Given the description of an element on the screen output the (x, y) to click on. 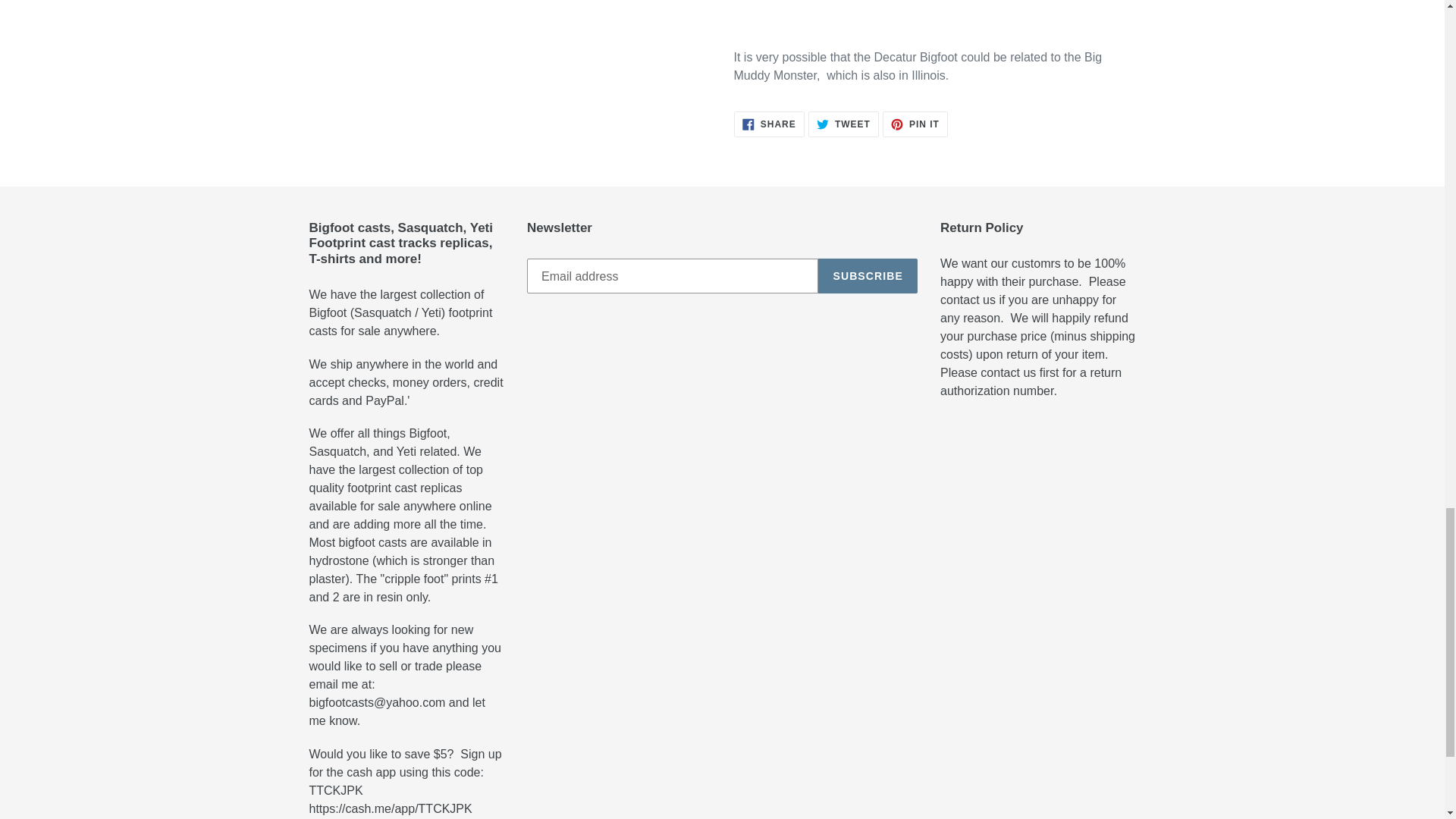
SUBSCRIBE (843, 124)
